Given the description of an element on the screen output the (x, y) to click on. 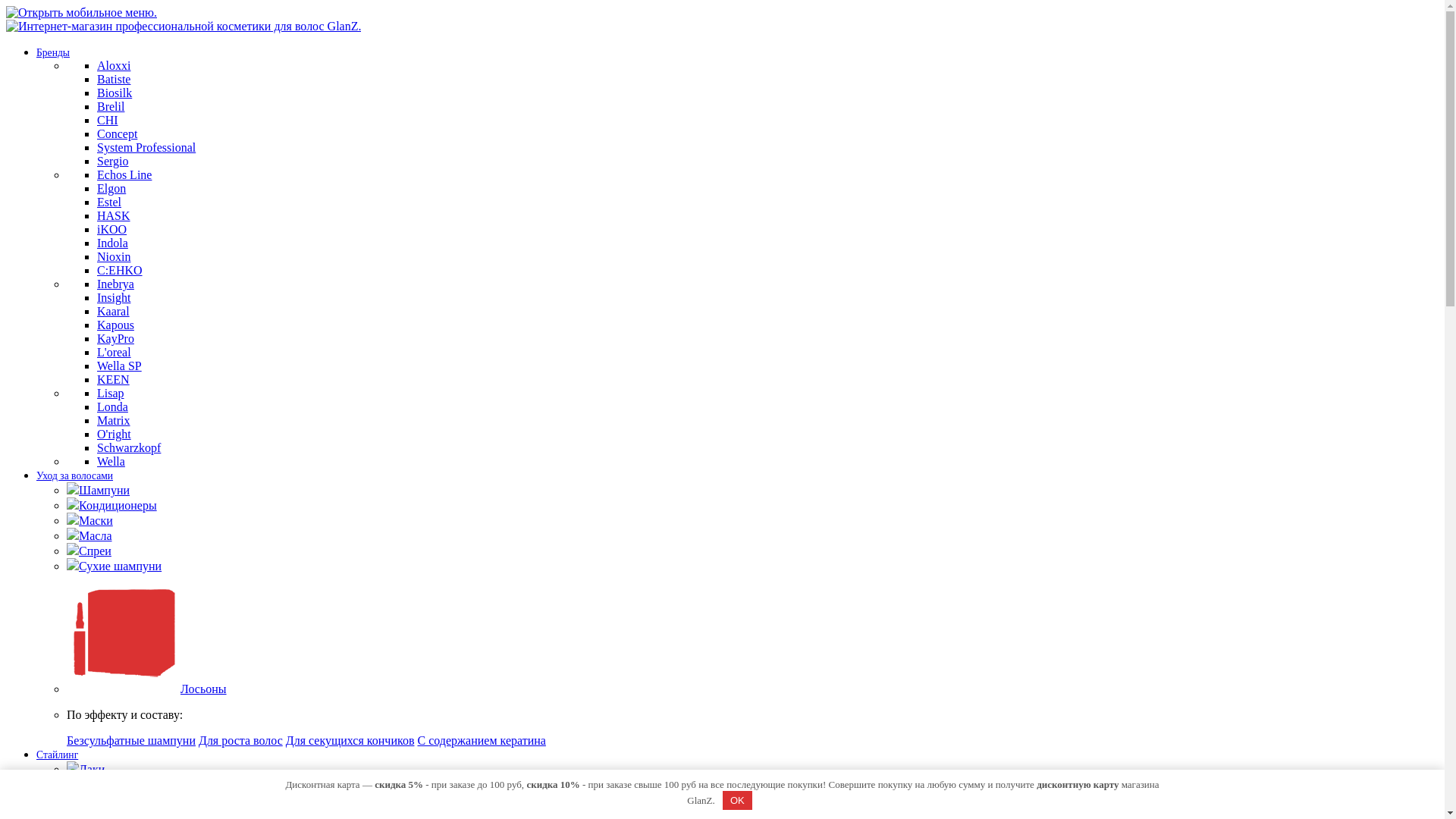
Insight Element type: text (113, 297)
Aloxxi Element type: text (113, 65)
L'oreal Element type: text (114, 351)
OK Element type: text (737, 799)
Londa Element type: text (112, 406)
Sergio Element type: text (112, 160)
Concept Element type: text (117, 133)
CHI Element type: text (107, 119)
Brelil Element type: text (110, 106)
Wella Element type: text (111, 461)
Inebrya Element type: text (115, 283)
System Professional Element type: text (146, 147)
Kaaral Element type: text (113, 310)
iKOO Element type: text (111, 228)
O'right Element type: text (114, 433)
Batiste Element type: text (113, 78)
C:EHKO Element type: text (119, 269)
Lisap Element type: text (110, 392)
HASK Element type: text (113, 215)
Wella SP Element type: text (119, 365)
Schwarzkopf Element type: text (128, 447)
Elgon Element type: text (111, 188)
Nioxin Element type: text (113, 256)
Biosilk Element type: text (114, 92)
Matrix Element type: text (113, 420)
KayPro Element type: text (115, 338)
Estel Element type: text (109, 201)
Echos Line Element type: text (124, 174)
Indola Element type: text (112, 242)
Kapous Element type: text (115, 324)
KEEN Element type: text (113, 379)
